Given the description of an element on the screen output the (x, y) to click on. 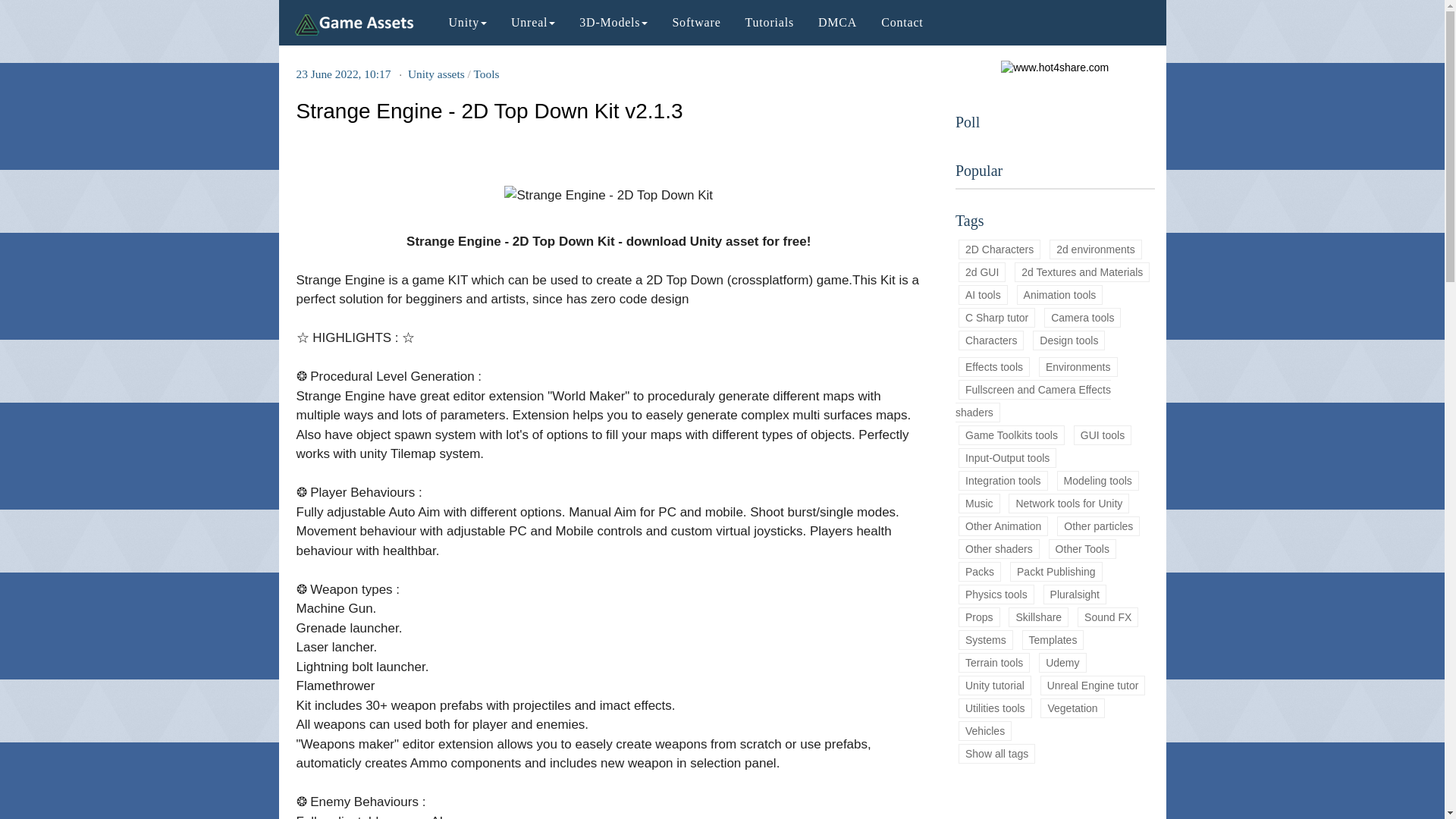
3D-Models (613, 22)
Unity (467, 22)
Unreal (533, 22)
